Given the description of an element on the screen output the (x, y) to click on. 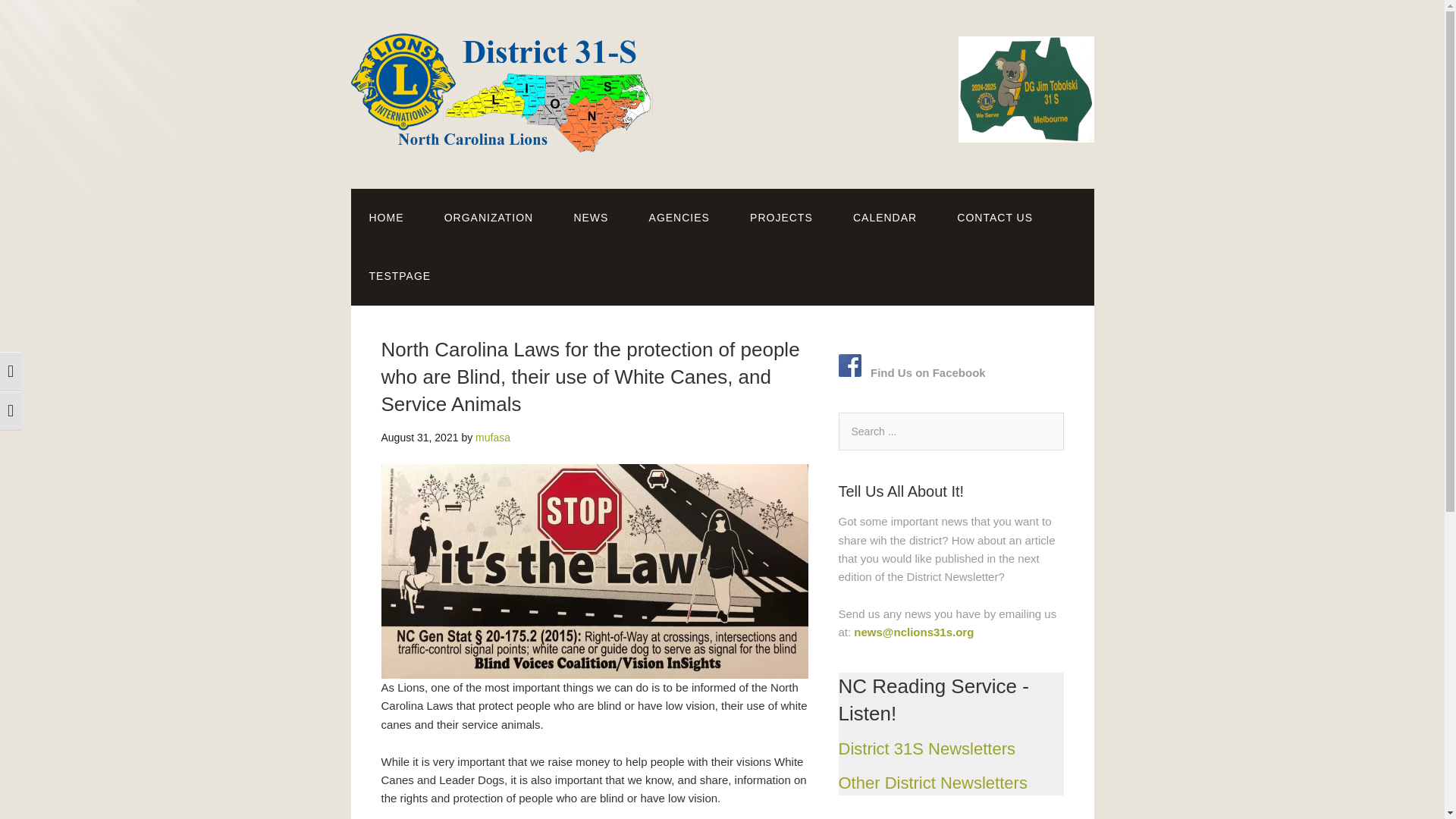
Tuesday, August 31, 2021, 5:40 pm (419, 437)
Other District Newsletters (932, 782)
NEWS (590, 217)
mufasa (493, 437)
ORGANIZATION (488, 217)
AGENCIES (679, 217)
PROJECTS (781, 217)
CONTACT US (995, 217)
District 31S Newsletters (927, 748)
HOME (386, 217)
TESTPAGE (399, 276)
CALENDAR (884, 217)
